Given the description of an element on the screen output the (x, y) to click on. 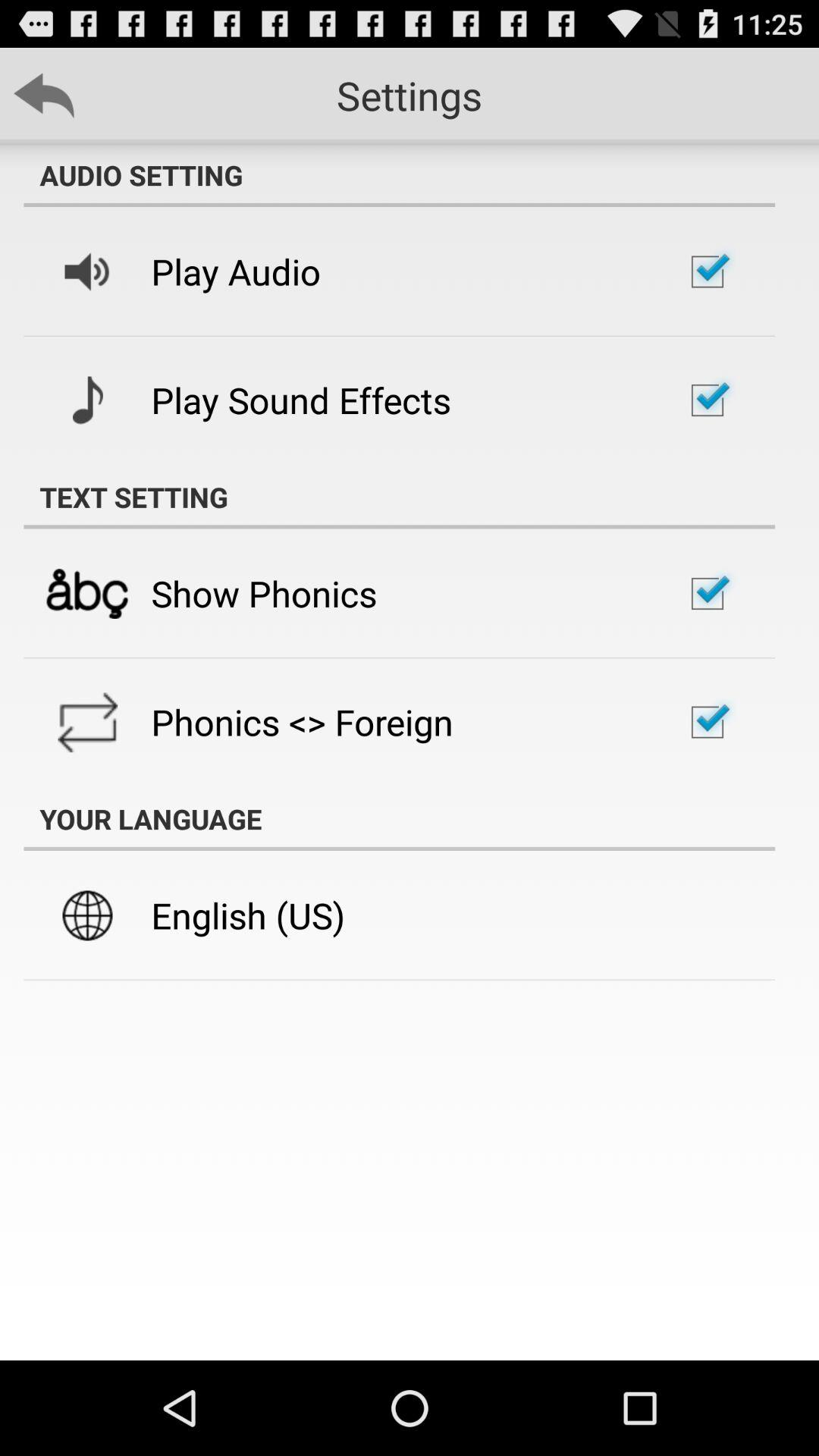
select the item below the text setting app (264, 593)
